Given the description of an element on the screen output the (x, y) to click on. 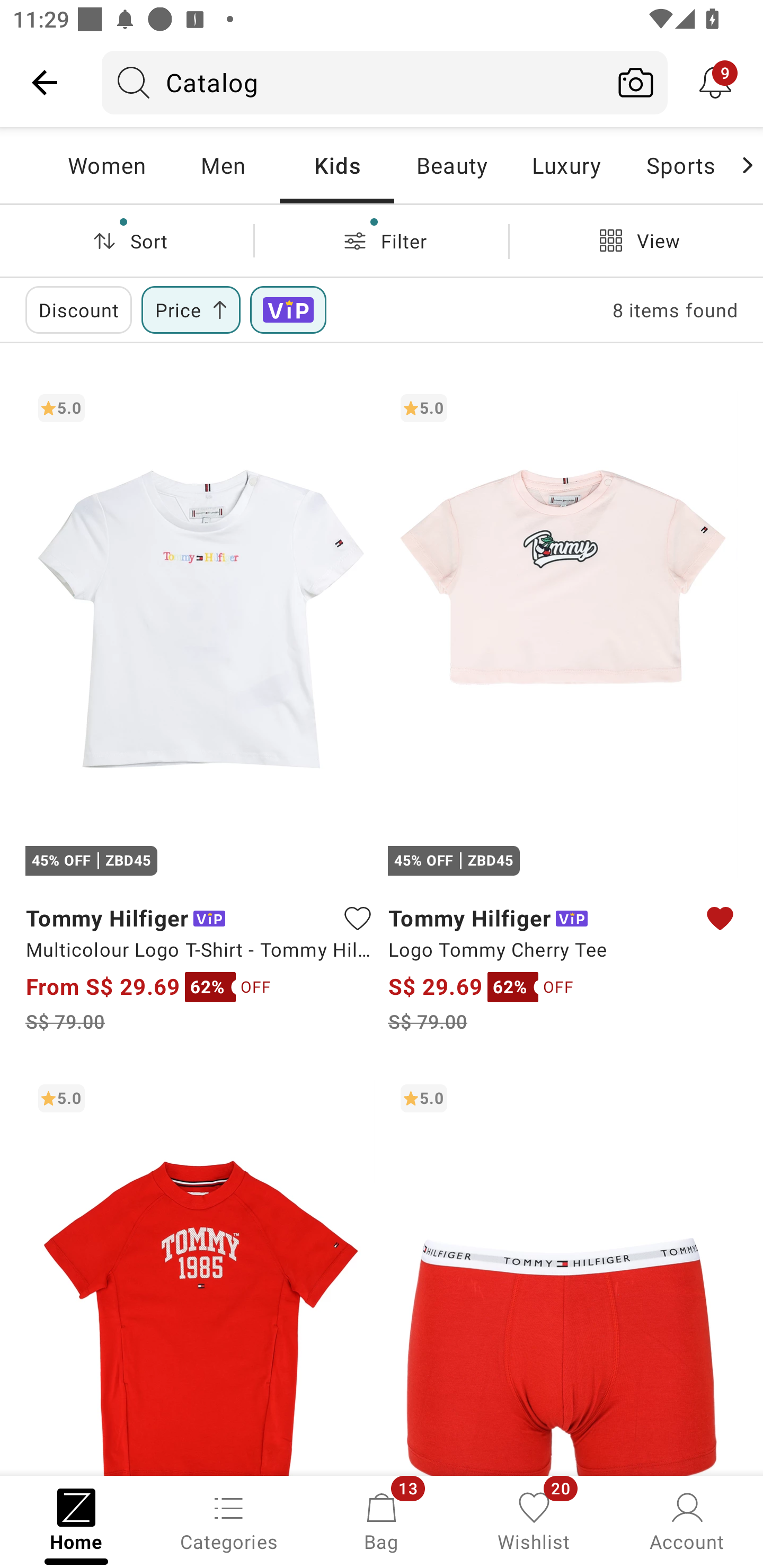
Navigate up (44, 82)
Catalog (352, 82)
Women (106, 165)
Men (222, 165)
Beauty (451, 165)
Luxury (565, 165)
Sports (680, 165)
Sort (126, 240)
Filter (381, 240)
View (636, 240)
Discount (78, 309)
Price (190, 309)
5.0 (200, 1272)
5.0 (562, 1272)
Categories (228, 1519)
Bag, 13 new notifications Bag (381, 1519)
Wishlist, 20 new notifications Wishlist (533, 1519)
Account (686, 1519)
